Given the description of an element on the screen output the (x, y) to click on. 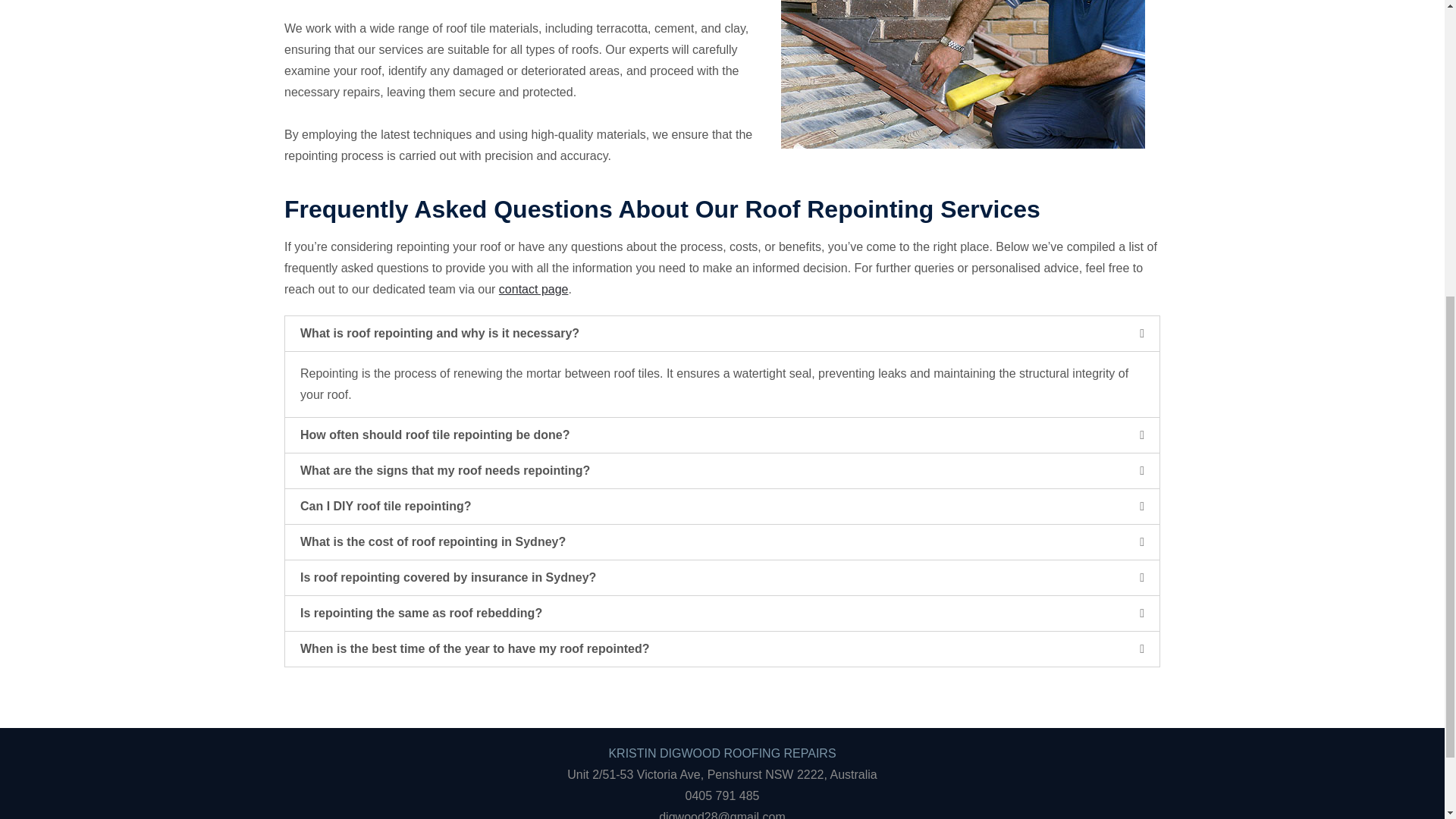
What is roof repointing and why is it necessary? (439, 332)
What is the cost of roof repointing in Sydney? (432, 541)
Is roof repointing covered by insurance in Sydney? (447, 576)
When is the best time of the year to have my roof repointed? (474, 648)
How often should roof tile repointing be done? (434, 434)
Is repointing the same as roof rebedding? (420, 612)
Can I DIY roof tile repointing? (384, 505)
What are the signs that my roof needs repointing? (444, 470)
0405 791 485 (722, 795)
contact page (534, 288)
